Given the description of an element on the screen output the (x, y) to click on. 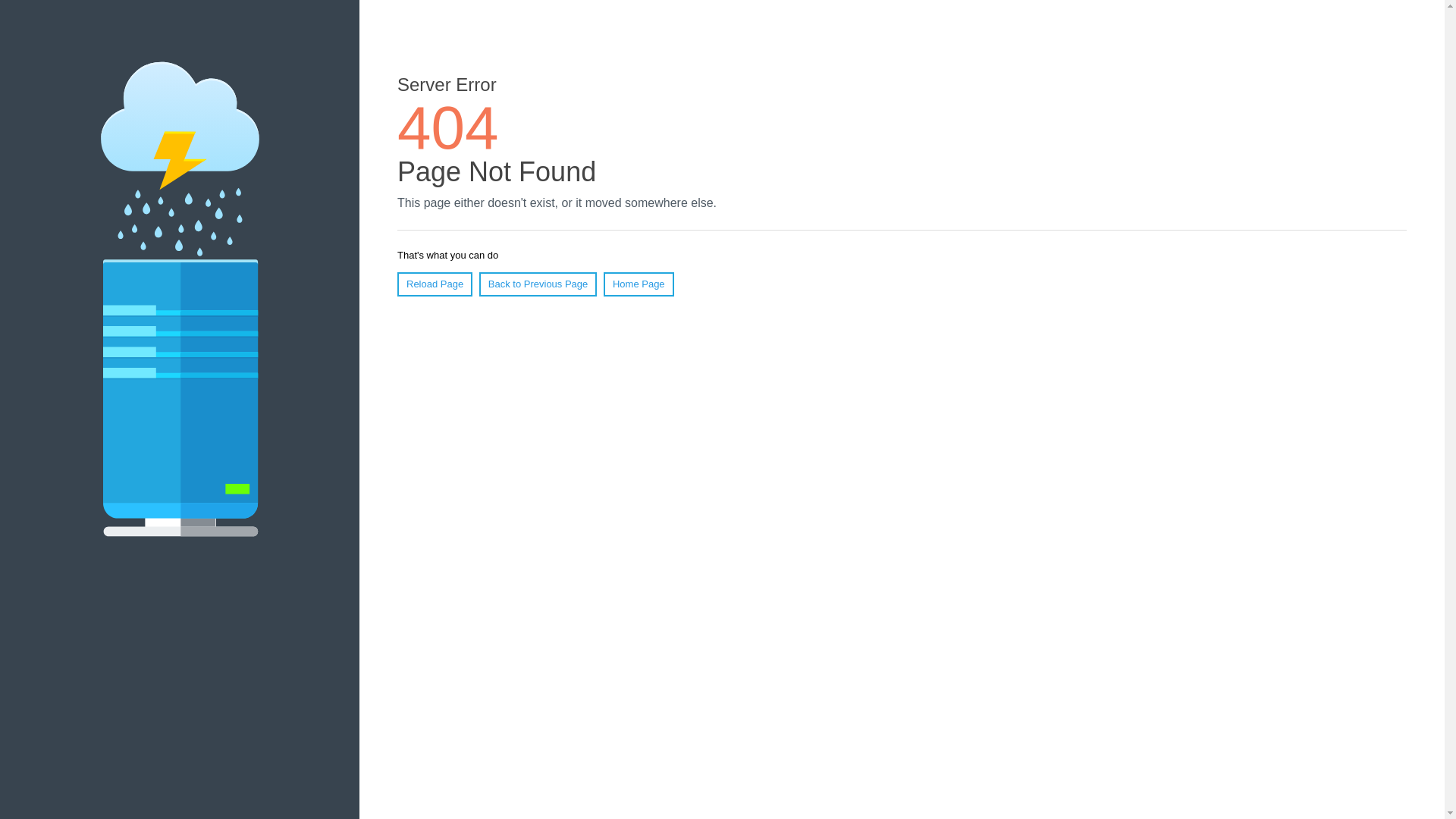
Back to Previous Page Element type: text (538, 284)
Home Page Element type: text (638, 284)
Reload Page Element type: text (434, 284)
